Given the description of an element on the screen output the (x, y) to click on. 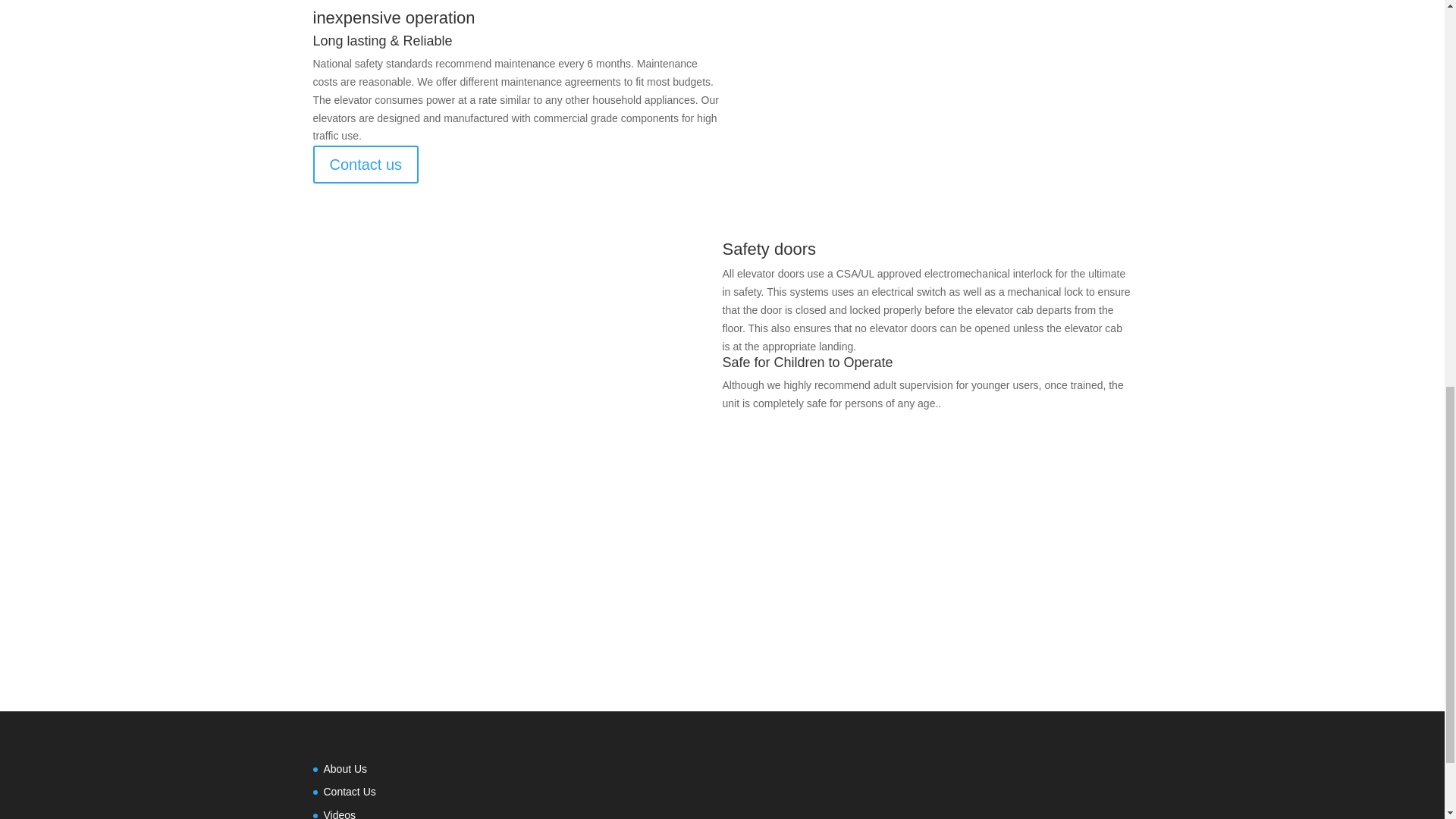
Videos (339, 814)
Citations (722, 605)
About Us (344, 768)
Contact us (366, 164)
Contact Us (349, 791)
